Given the description of an element on the screen output the (x, y) to click on. 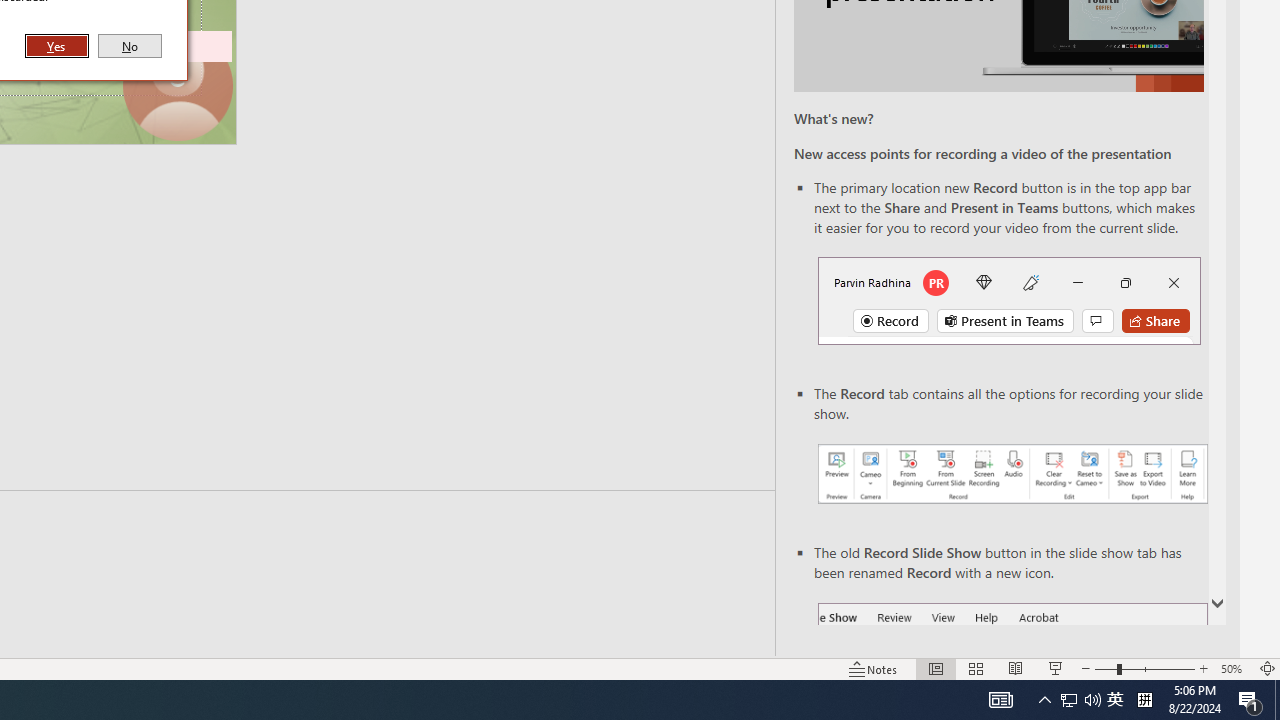
Normal (936, 668)
No (130, 45)
Tray Input Indicator - Chinese (Simplified, China) (1144, 699)
Zoom to Fit  (1267, 668)
Reading View (1015, 668)
Action Center, 1 new notification (1250, 699)
Zoom (1115, 699)
Zoom 50% (1144, 668)
Record button in top bar (1234, 668)
Zoom In (1069, 699)
User Promoted Notification Area (1008, 300)
